Given the description of an element on the screen output the (x, y) to click on. 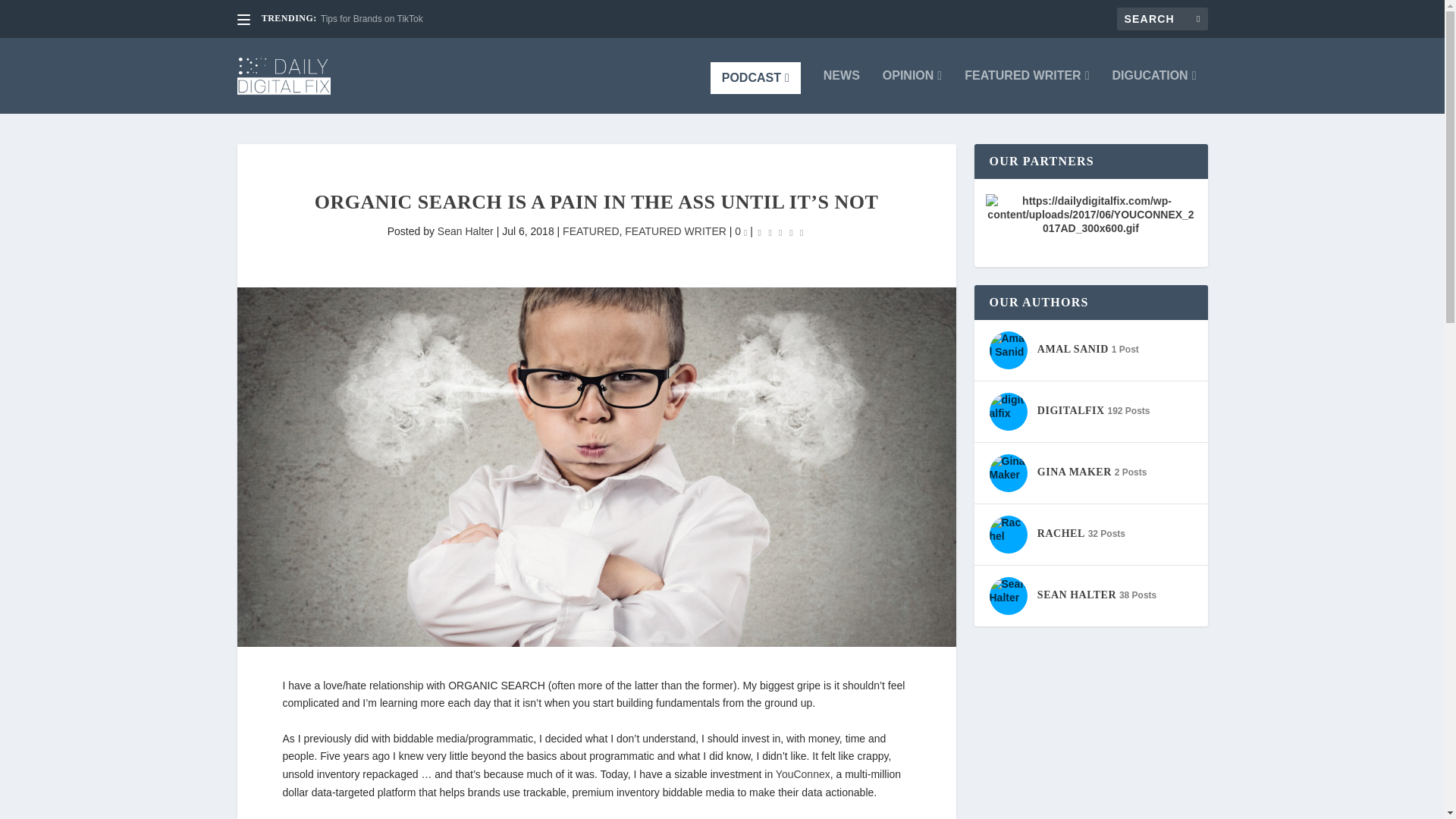
PODCAST (755, 78)
Search for: (1161, 18)
FEATURED WRITER (1026, 91)
OPINION (912, 91)
Tips for Brands on TikTok (371, 18)
